Given the description of an element on the screen output the (x, y) to click on. 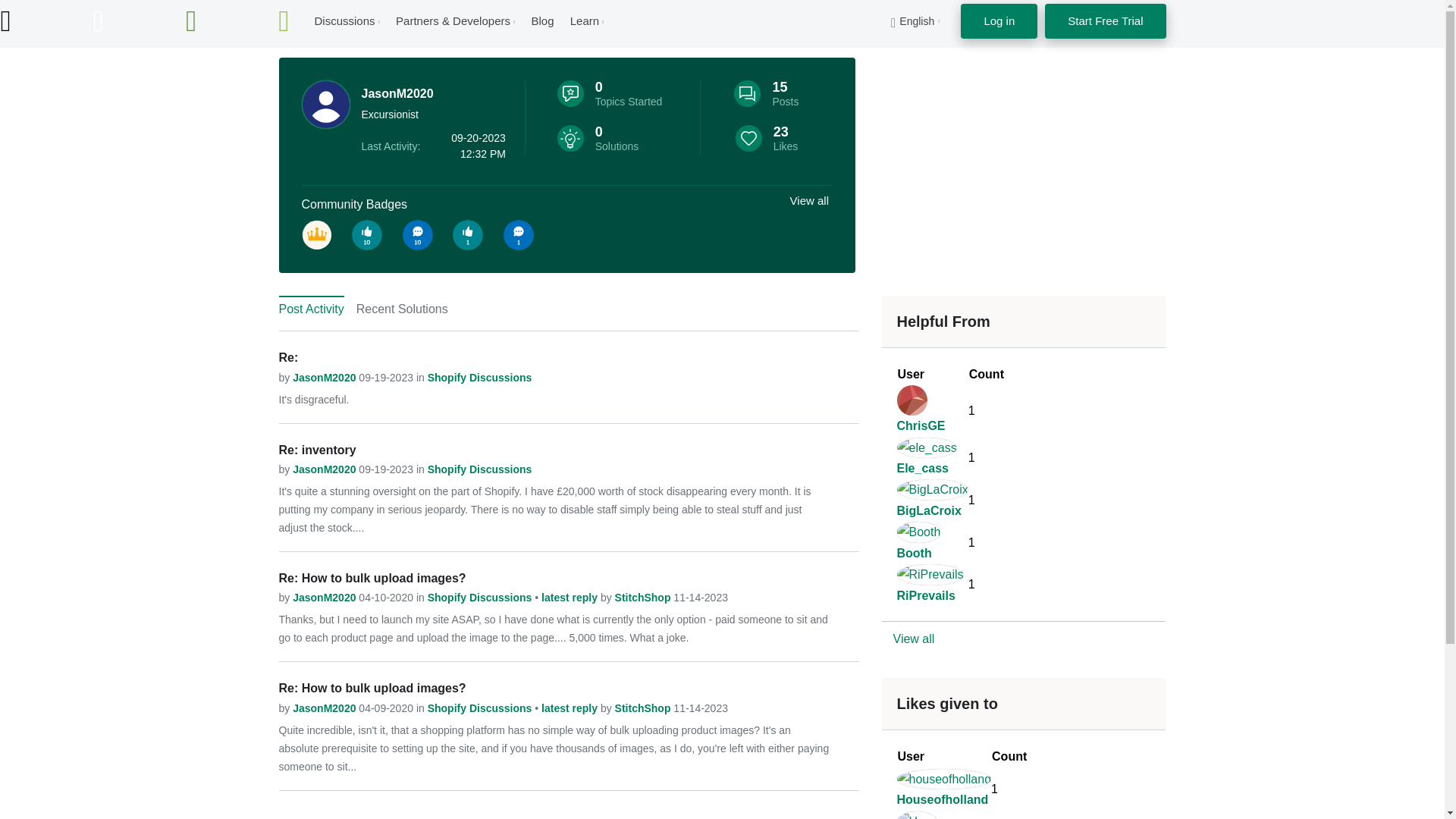
View profile (325, 469)
Original Member (316, 235)
10 Posts (417, 235)
JasonM2020 (325, 104)
1st Like (467, 235)
10 Likes (366, 235)
View profile (325, 377)
1st Post (518, 235)
Discussions (344, 20)
